Given the description of an element on the screen output the (x, y) to click on. 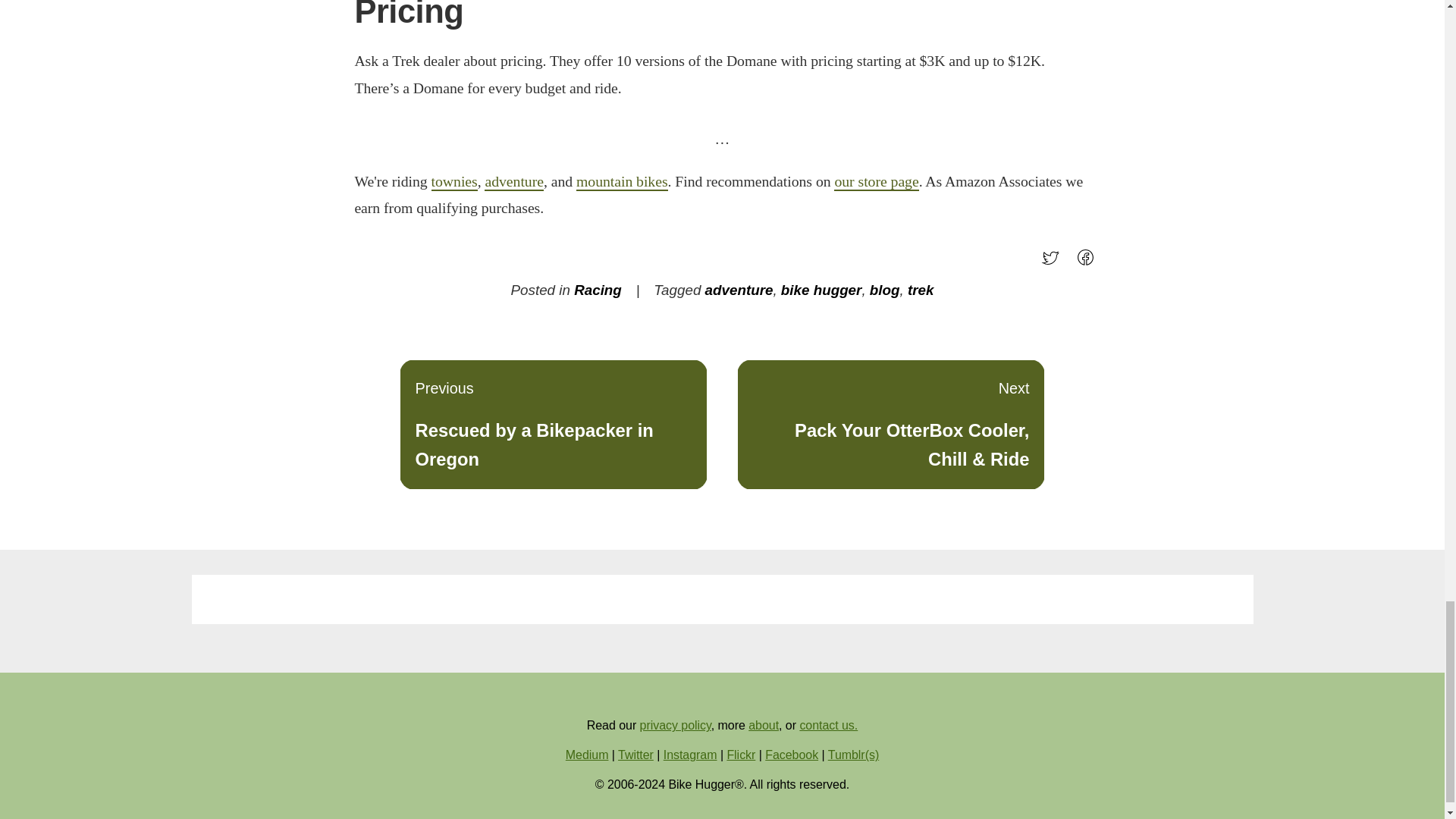
about (763, 725)
Twitter (635, 754)
Facebook (791, 754)
adventure (738, 289)
townies (453, 181)
contact us. (828, 725)
Flickr (740, 754)
Instagram (690, 754)
our store page (876, 181)
privacy policy (675, 725)
